Given the description of an element on the screen output the (x, y) to click on. 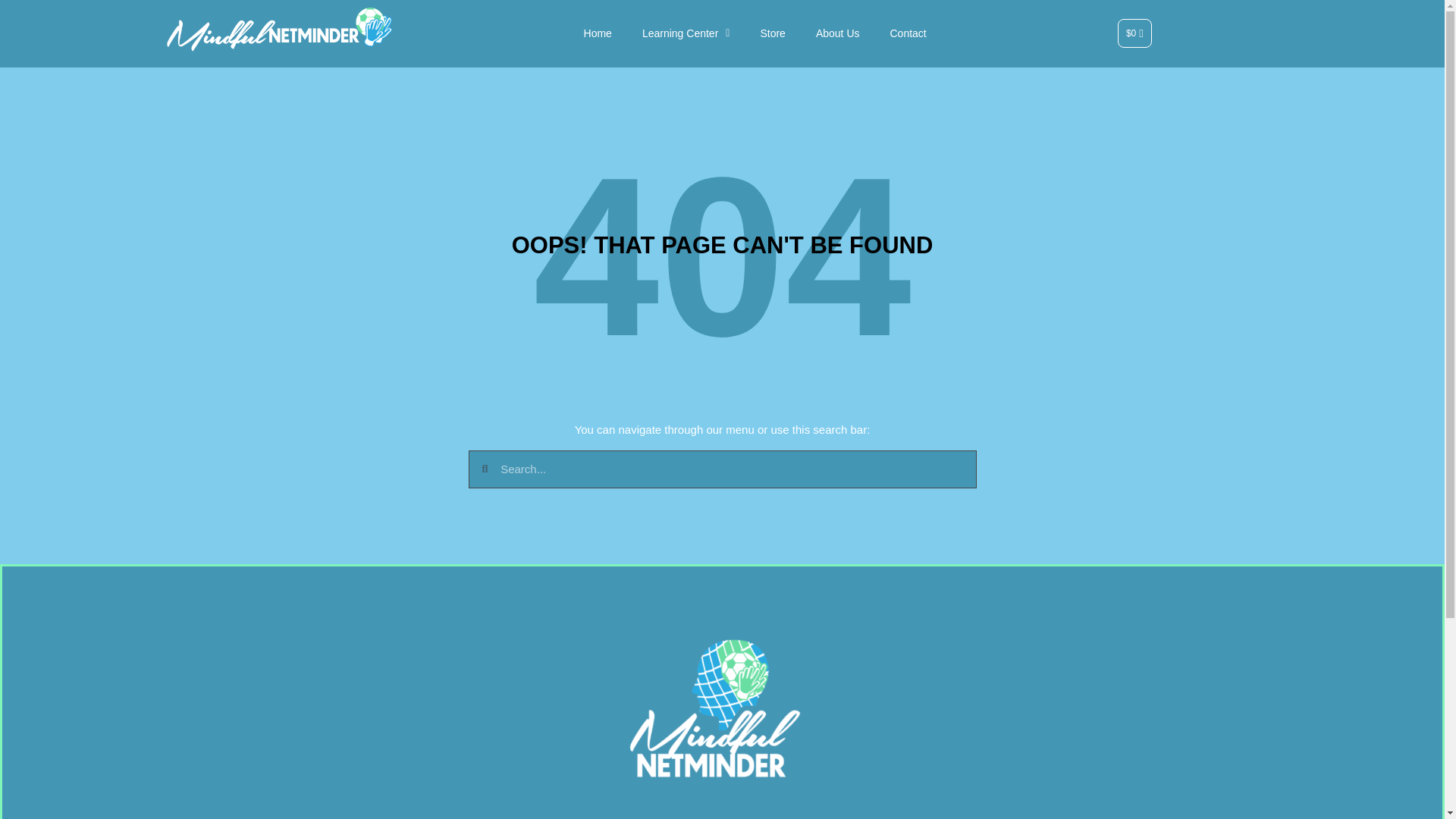
Contact (908, 33)
About Us (837, 33)
Store (771, 33)
Home (598, 33)
Learning Center (686, 33)
